Given the description of an element on the screen output the (x, y) to click on. 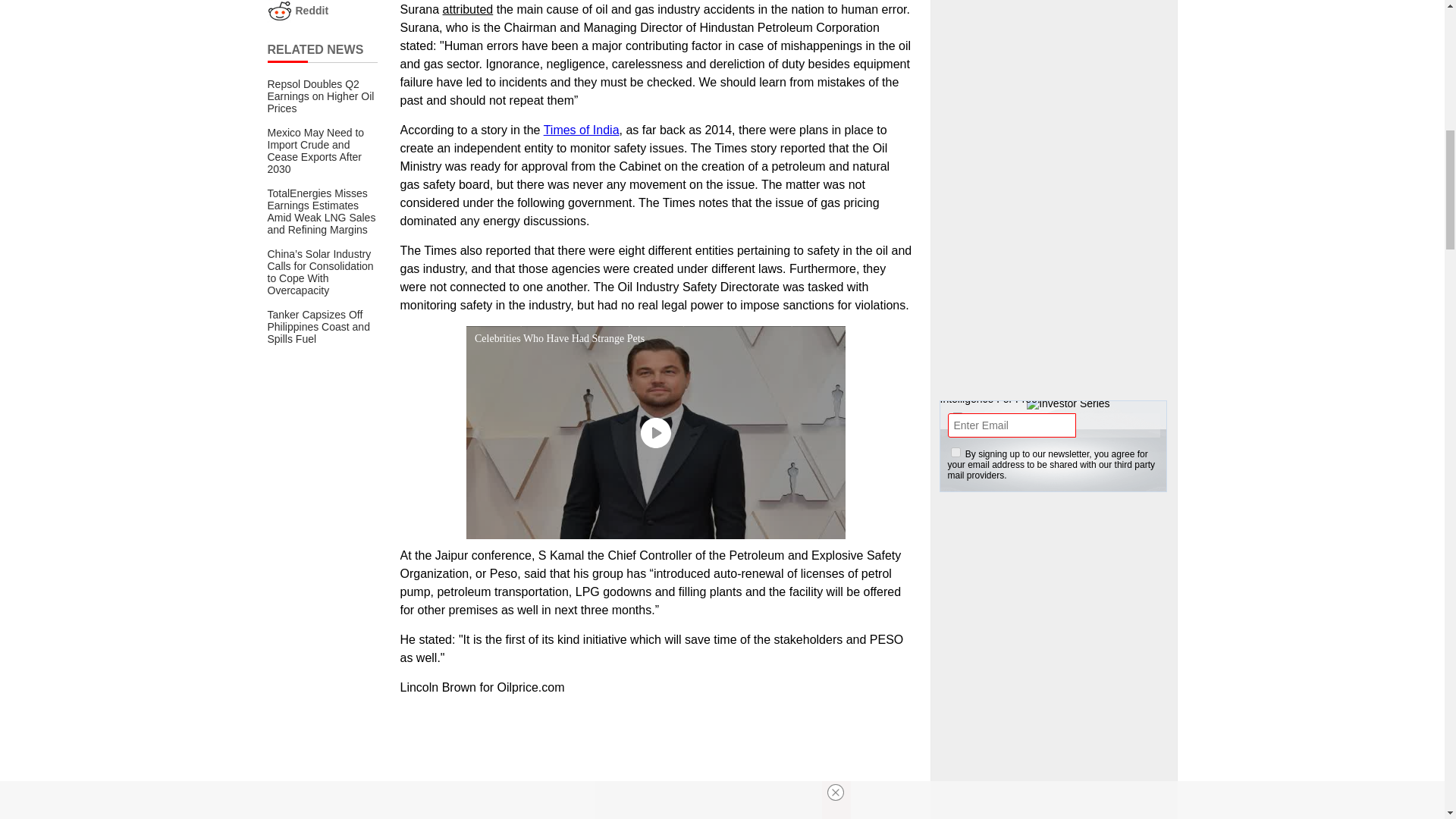
1 (955, 452)
3rd party ad content (1053, 766)
3rd party ad content (655, 763)
3rd party ad content (1053, 74)
3rd party ad content (1053, 599)
3rd party ad content (1053, 264)
